Given the description of an element on the screen output the (x, y) to click on. 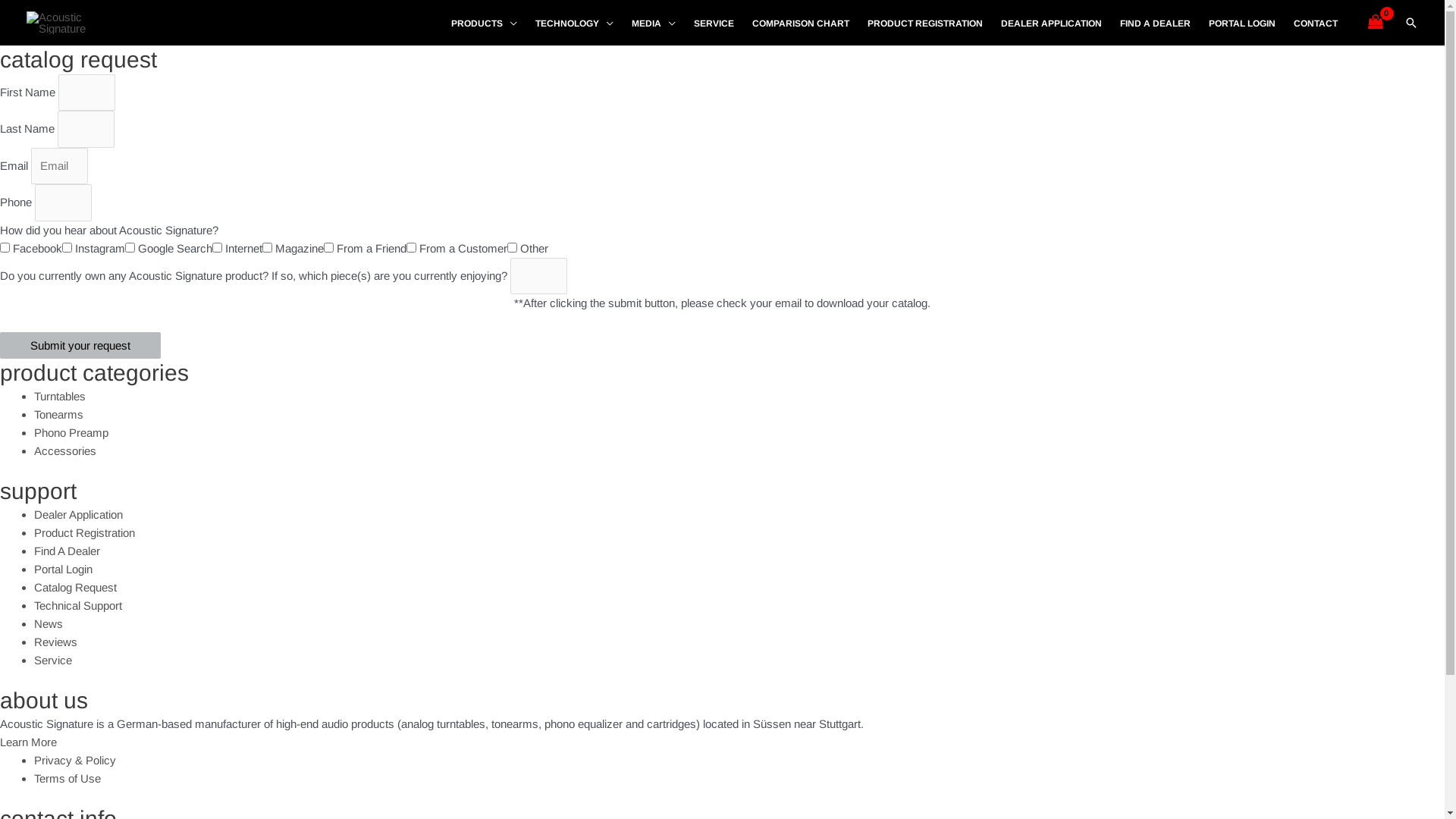
MEDIA Element type: text (653, 23)
Learn More Element type: text (28, 741)
Portal Login Element type: text (63, 568)
Product Registration Element type: text (84, 532)
Accessories Element type: text (65, 450)
DEALER APPLICATION Element type: text (1050, 23)
Search Element type: text (1411, 22)
PORTAL LOGIN Element type: text (1241, 23)
Service Element type: text (53, 659)
Submit your request Element type: text (80, 345)
CONTACT Element type: text (1315, 23)
PRODUCT REGISTRATION Element type: text (924, 23)
Turntables Element type: text (59, 395)
Phono Preamp Element type: text (71, 432)
Reviews Element type: text (55, 641)
Catalog Request Element type: text (75, 586)
Privacy & Policy Element type: text (75, 759)
FIND A DEALER Element type: text (1154, 23)
TECHNOLOGY Element type: text (574, 23)
Technical Support Element type: text (78, 605)
Tonearms Element type: text (58, 413)
News Element type: text (48, 623)
PRODUCTS Element type: text (484, 23)
Find A Dealer Element type: text (67, 550)
Terms of Use Element type: text (67, 777)
SERVICE Element type: text (713, 23)
Dealer Application Element type: text (78, 514)
COMPARISON CHART Element type: text (800, 23)
